Given the description of an element on the screen output the (x, y) to click on. 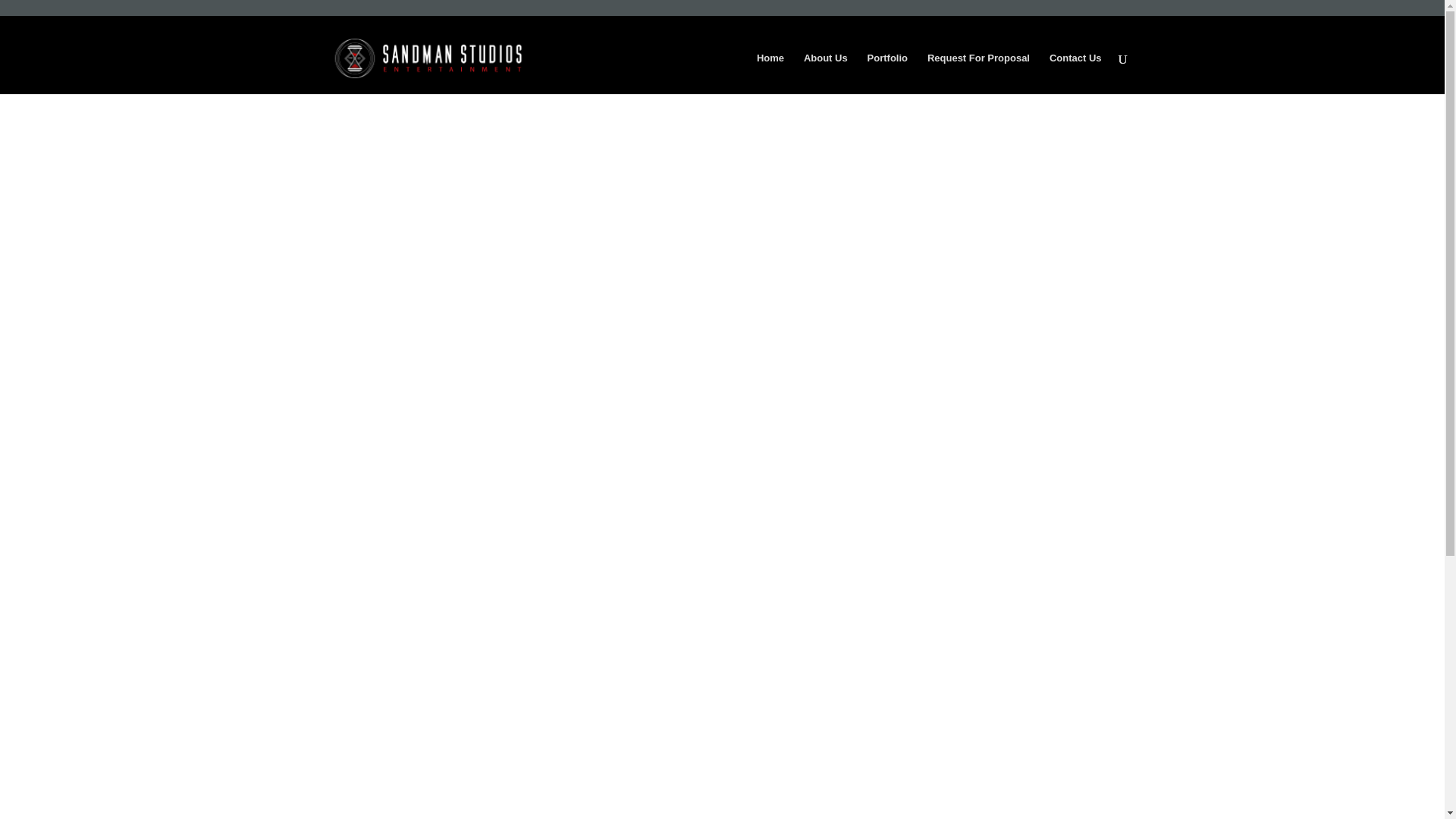
Portfolio (887, 73)
About Us (825, 73)
Request For Proposal (978, 73)
Contact Us (1075, 73)
